Given the description of an element on the screen output the (x, y) to click on. 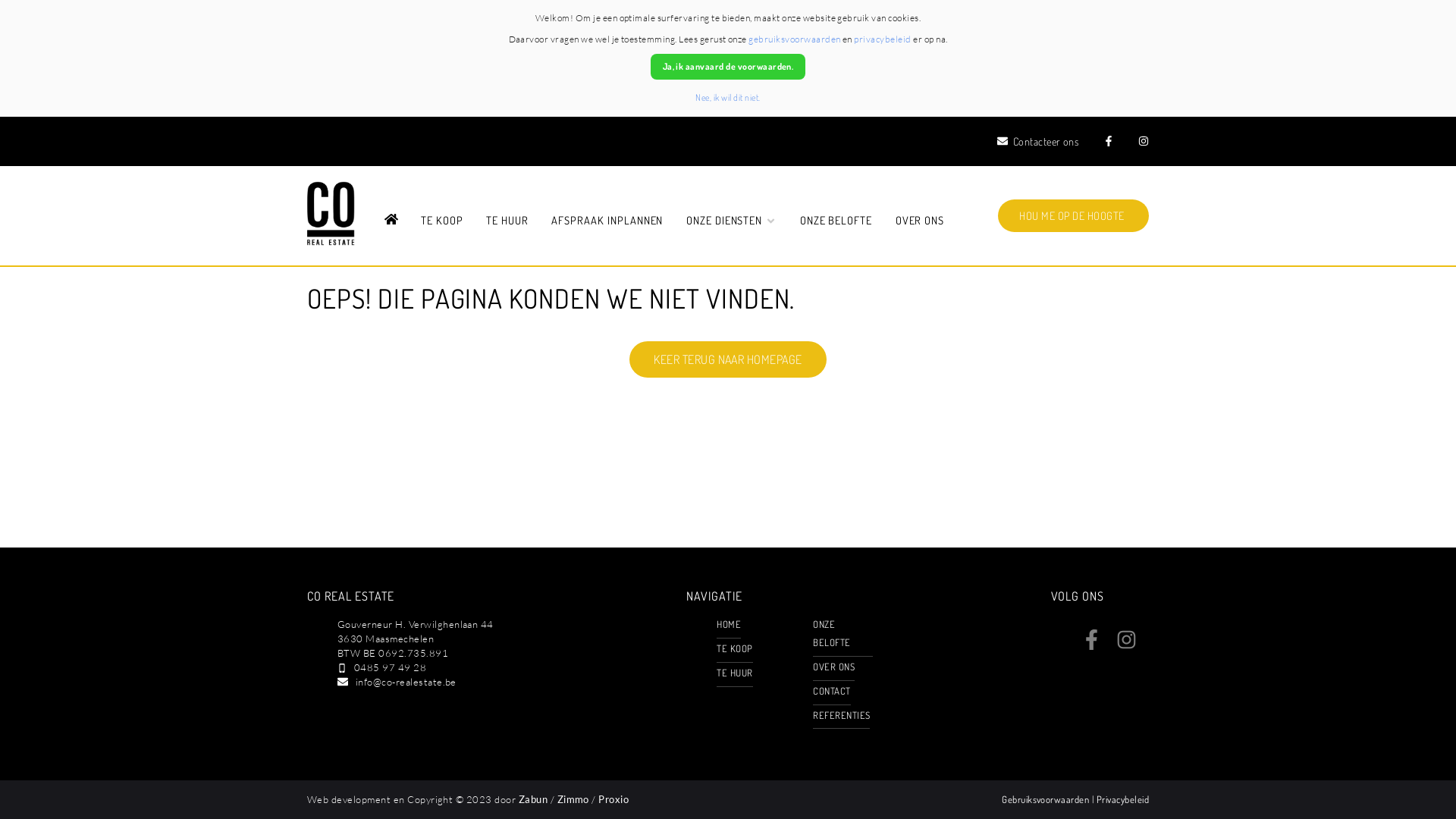
ONZE DIENSTEN Element type: text (731, 220)
Zabun Element type: text (532, 799)
TE HUUR Element type: text (507, 220)
Nee, ik wil dit niet. Element type: text (727, 97)
Privacybeleid Element type: text (1122, 799)
gebruiksvoorwaarden Element type: text (794, 38)
Contacteer ons Element type: text (1038, 140)
TE KOOP Element type: text (441, 220)
TE KOOP Element type: text (734, 648)
HOU ME OP DE HOOGTE Element type: text (1072, 215)
HOME Element type: text (728, 624)
CONTACT Element type: text (831, 690)
info@co-realestate.be Element type: text (405, 681)
AFSPRAAK INPLANNEN Element type: text (606, 220)
Zimmo Element type: text (573, 799)
ONZE BELOFTE Element type: text (835, 220)
KEER TERUG NAAR HOMEPAGE Element type: text (727, 359)
OVER ONS Element type: text (833, 666)
HOME Element type: text (391, 220)
Proxio Element type: text (613, 799)
privacybeleid Element type: text (881, 38)
OVER ONS Element type: text (919, 220)
Gebruiksvoorwaarden Element type: text (1046, 799)
TE HUUR Element type: text (734, 672)
ONZE BELOFTE Element type: text (831, 633)
Ja, ik aanvaard de voorwaarden. Element type: text (728, 66)
